Given the description of an element on the screen output the (x, y) to click on. 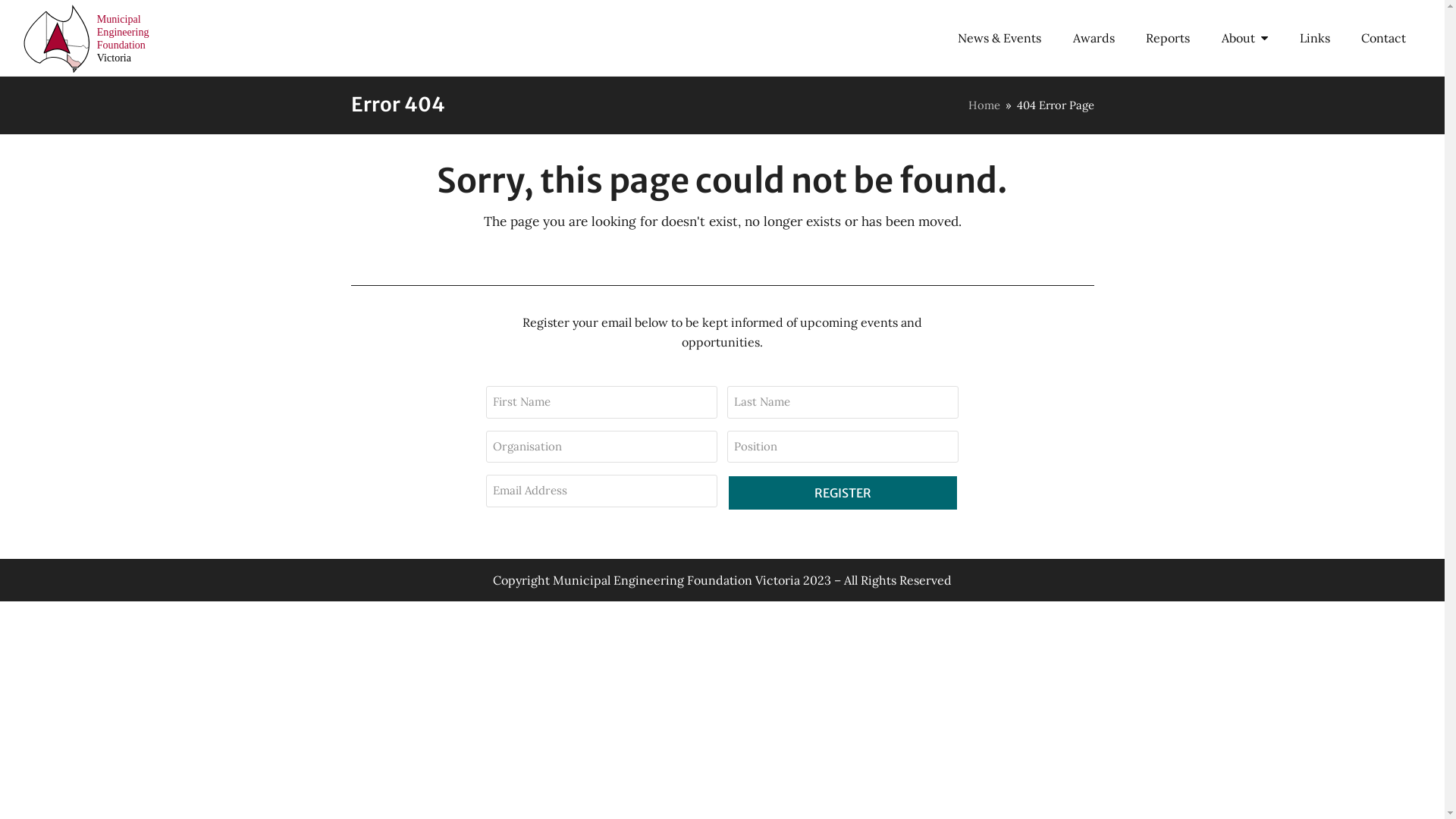
Home Element type: text (983, 104)
Register Element type: text (842, 492)
News & Events Element type: text (999, 37)
Awards Element type: text (1093, 37)
Contact Element type: text (1383, 37)
Links Element type: text (1314, 37)
Reports Element type: text (1168, 37)
About Element type: text (1244, 37)
